Given the description of an element on the screen output the (x, y) to click on. 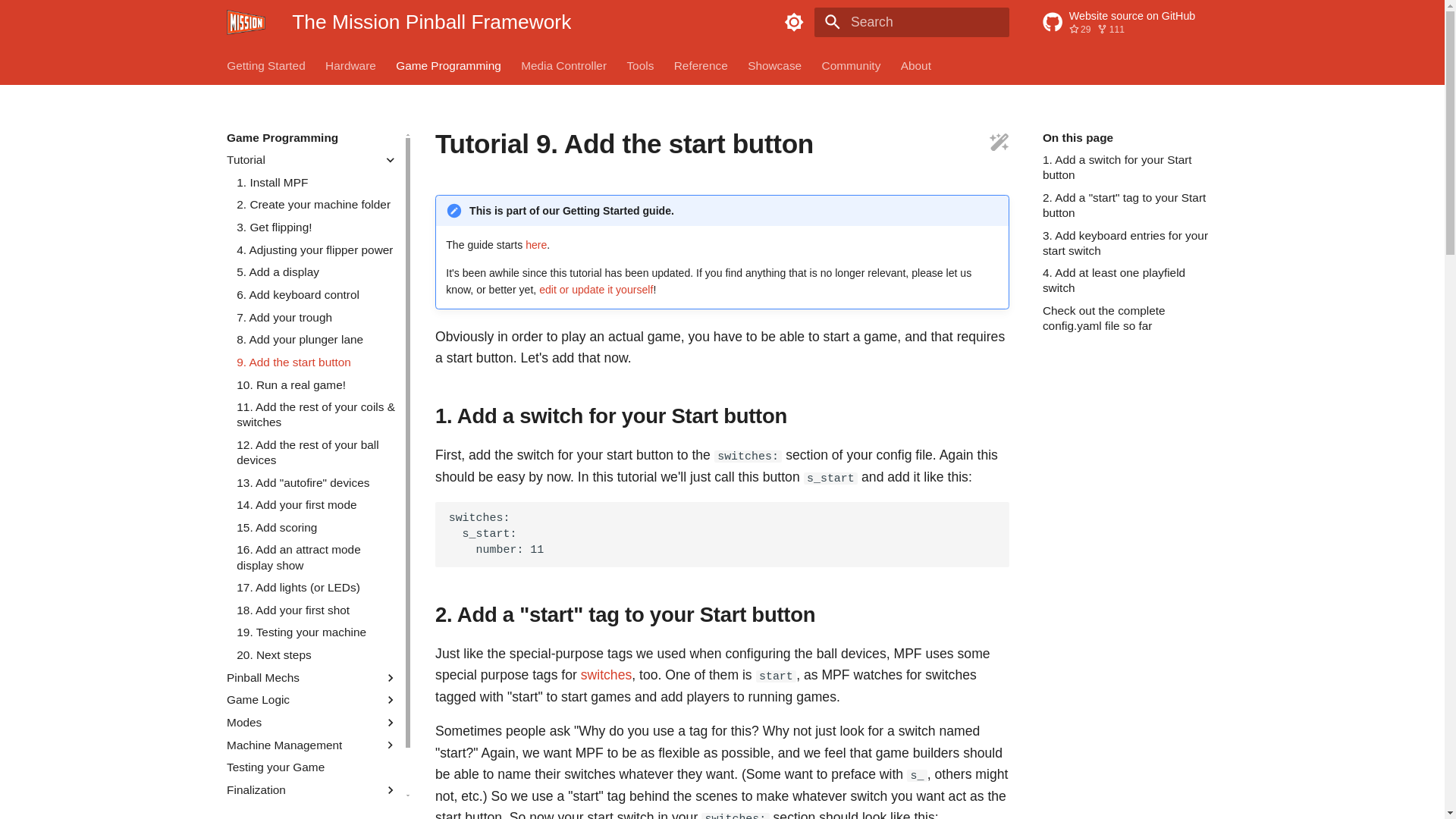
About (916, 65)
Hardware (349, 65)
Media Controller (564, 65)
Game Programming (448, 65)
The Mission Pinball Framework (245, 22)
Tools (639, 65)
Showcase (1129, 22)
Switch to dark mode (775, 65)
Reference (793, 22)
Community (701, 65)
Getting Started (850, 65)
Edit this page (266, 65)
Go to repository (999, 143)
